Given the description of an element on the screen output the (x, y) to click on. 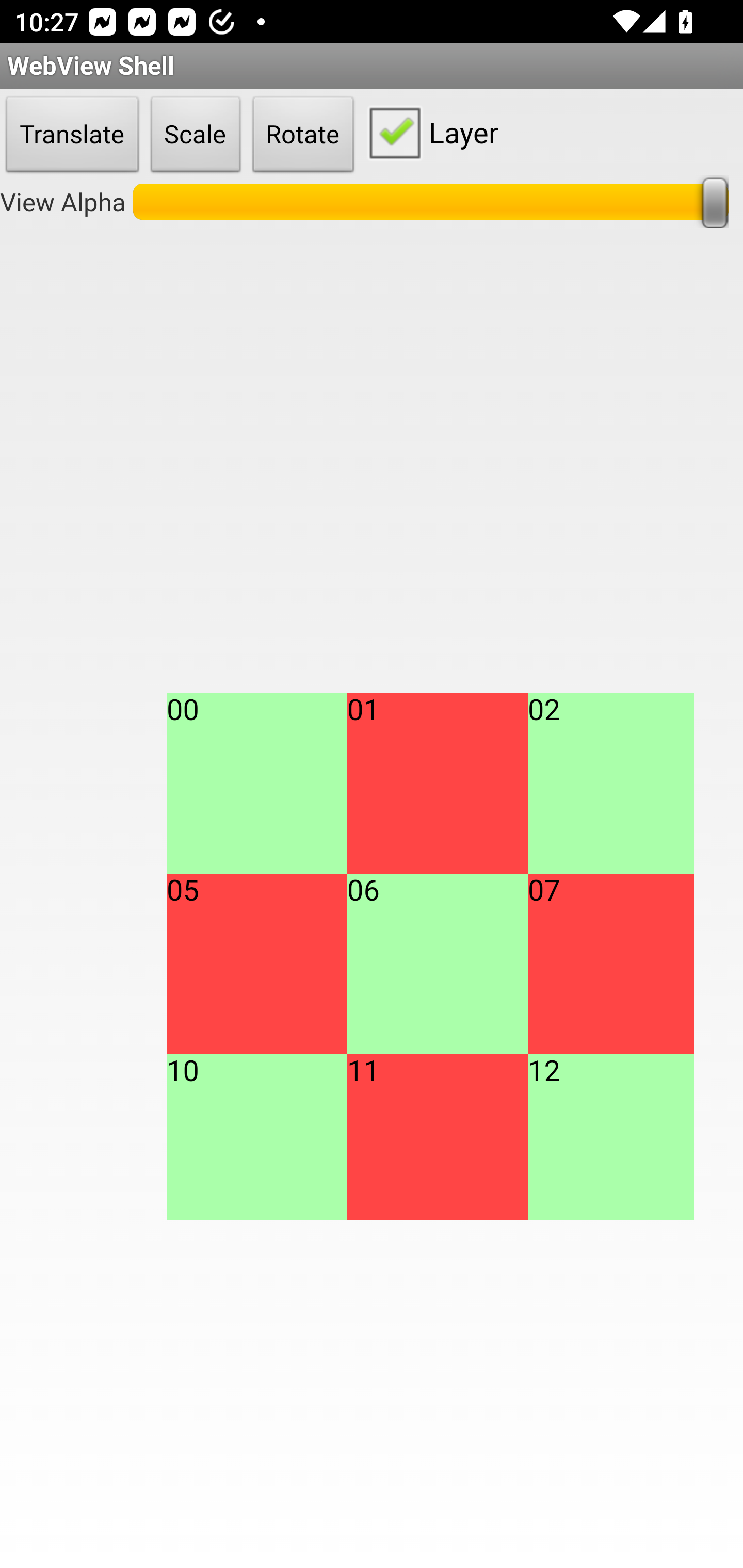
Layer (429, 132)
Translate (72, 135)
Scale (195, 135)
Rotate (303, 135)
